Given the description of an element on the screen output the (x, y) to click on. 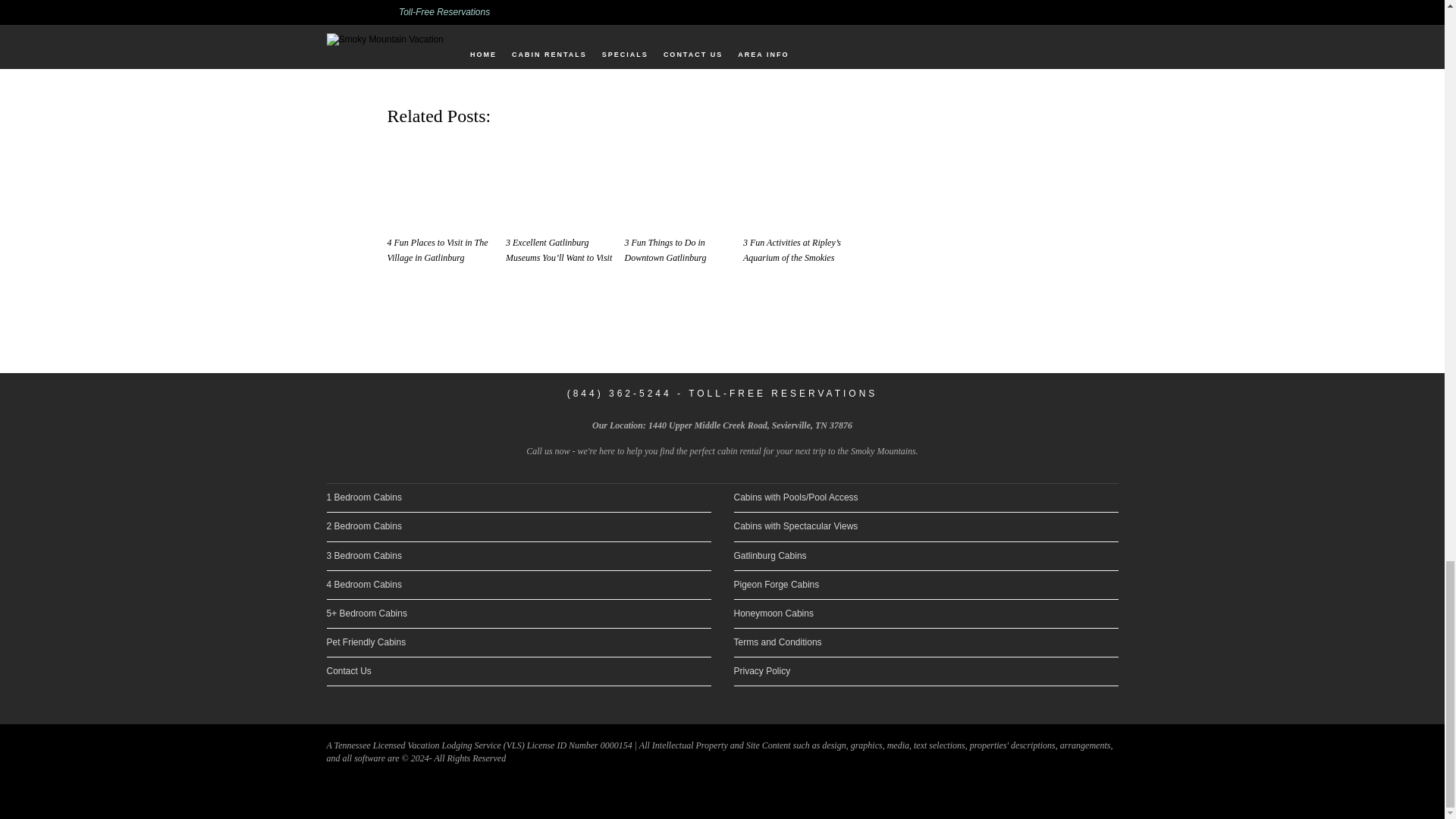
the village shops entrance with sign in gatlinburg tennessee (789, 30)
salt and pepper shaker museum (442, 184)
3 Fun Things to Do in Downtown Gatlinburg (672, 30)
Gatlinburg Space Needle (561, 184)
4 Fun Places to Visit in The Village in Gatlinburg (680, 183)
Ripley (555, 30)
